Given the description of an element on the screen output the (x, y) to click on. 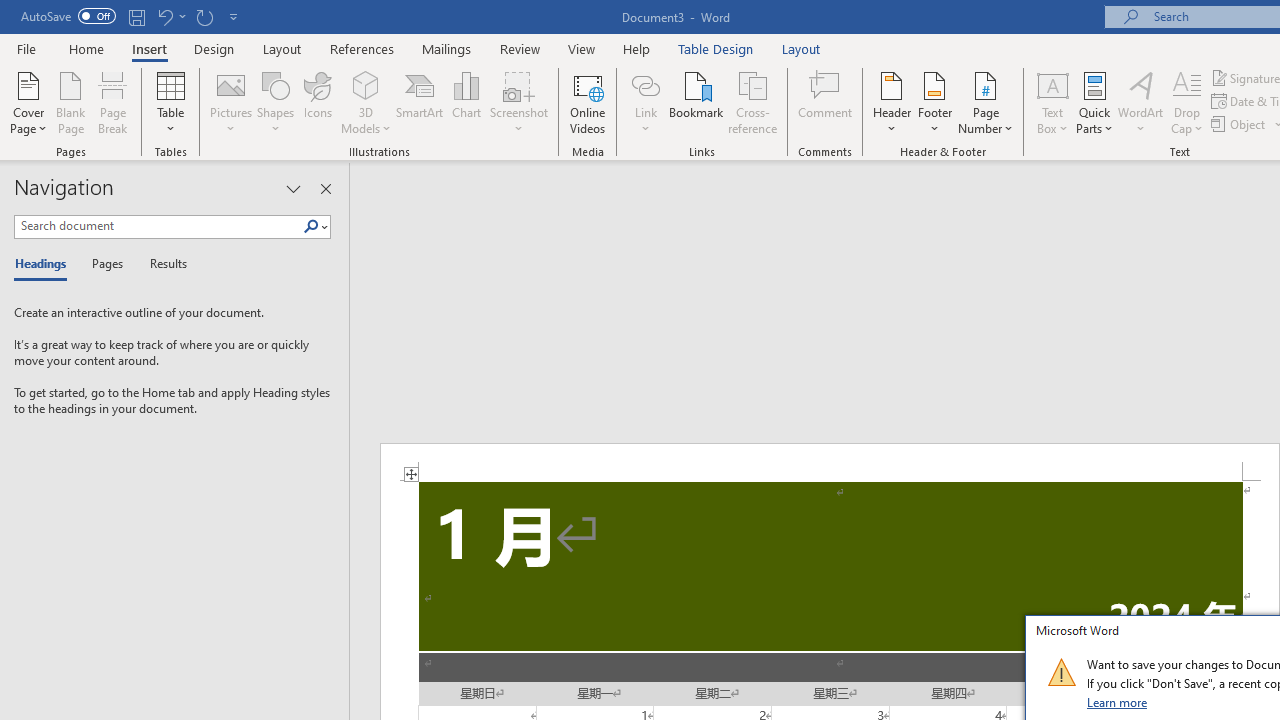
Undo Increase Indent (170, 15)
File Tab (26, 48)
Icons (317, 102)
Blank Page (70, 102)
Cross-reference... (752, 102)
Customize Quick Access Toolbar (234, 15)
Pictures (230, 102)
Design (214, 48)
Link (645, 102)
Header -Section 1- (830, 461)
Headings (45, 264)
Home (86, 48)
View (582, 48)
Header (891, 102)
